Given the description of an element on the screen output the (x, y) to click on. 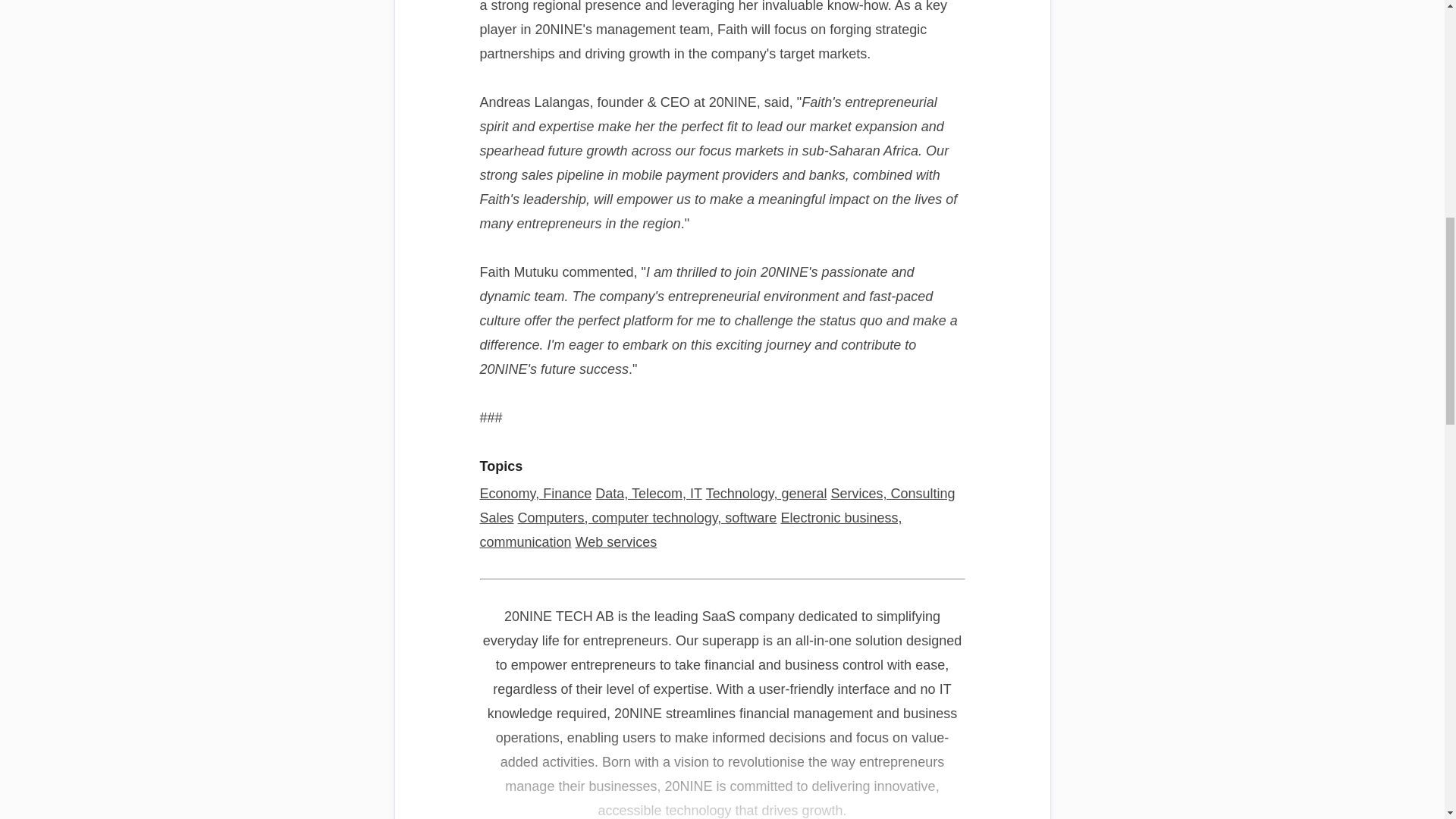
Technology, general (766, 493)
Economy, Finance (535, 493)
Data, Telecom, IT (648, 493)
Web services (616, 541)
Sales (496, 517)
Computers, computer technology, software (647, 517)
Services, Consulting (892, 493)
Electronic business, communication (690, 529)
